Given the description of an element on the screen output the (x, y) to click on. 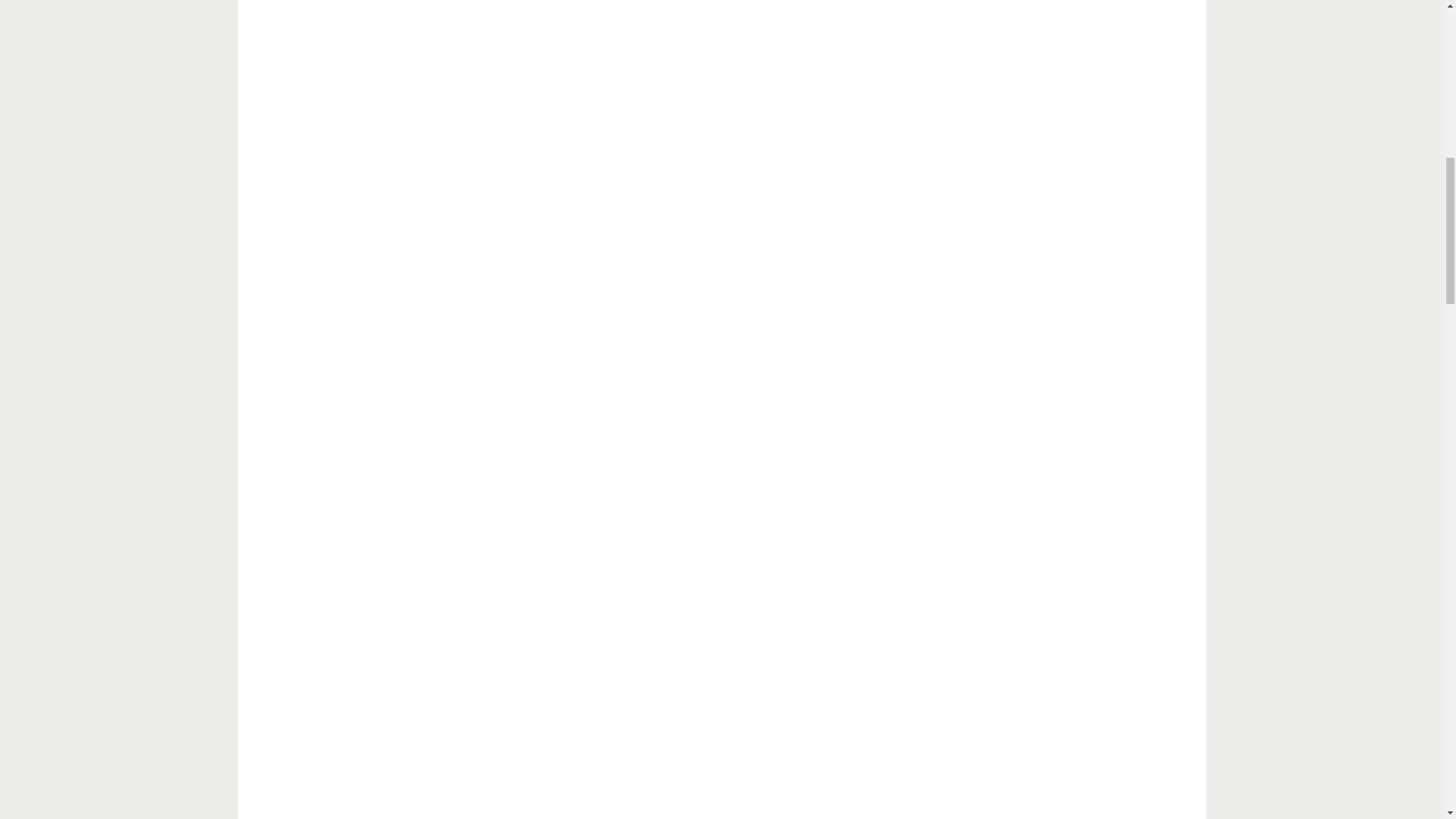
Add to Cart (1131, 139)
1 (996, 45)
